Given the description of an element on the screen output the (x, y) to click on. 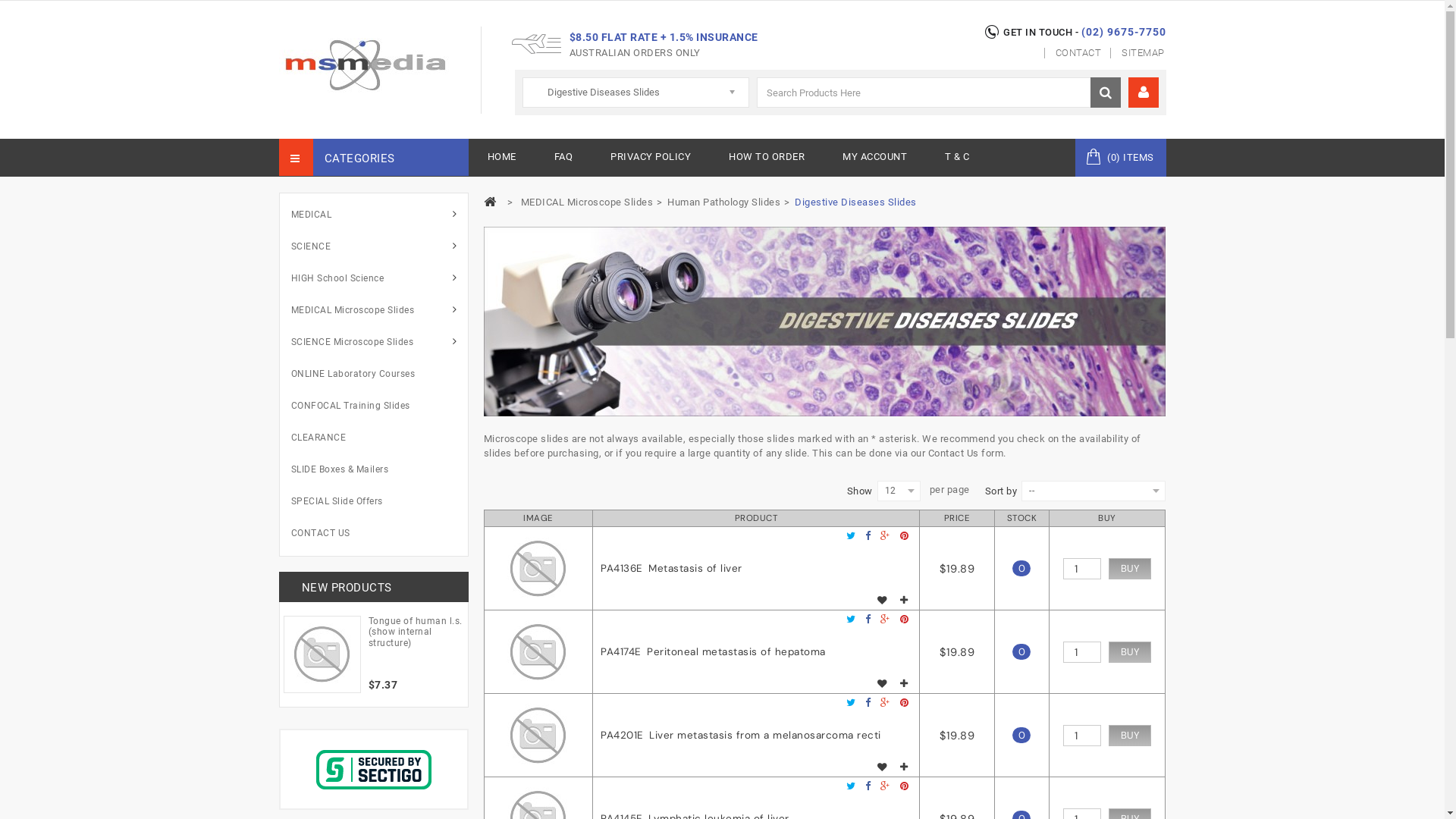
CONTACT Element type: text (1073, 52)
Share Element type: hover (867, 702)
Pinterest Element type: hover (904, 785)
HIGH School Science Element type: text (379, 277)
Share Element type: hover (867, 785)
T & C Element type: text (956, 157)
Tweet Element type: hover (850, 702)
FAQ Element type: text (563, 157)
BUY Element type: text (1129, 651)
Tweet Element type: hover (850, 785)
MEDICAL Microscope Slides Element type: text (586, 202)
Google+ Element type: hover (884, 702)
ONLINE Laboratory Courses Element type: text (379, 373)
Add to Wishlist Element type: hover (882, 766)
Peritoneal metastasis of hepatoma Element type: hover (538, 652)
Pinterest Element type: hover (904, 702)
SCIENCE Microscope Slides Element type: text (379, 341)
BUY Element type: text (1129, 568)
Pinterest Element type: hover (904, 535)
Human Pathology Slides Element type: text (723, 202)
Tongue of human l.s. (show internal structure) Element type: text (415, 629)
MY ACCOUNT Element type: text (874, 157)
Add to Compare Element type: hover (904, 599)
HOME Element type: text (501, 157)
Add to Wishlist Element type: hover (882, 683)
Google+ Element type: hover (884, 619)
CONTACT US Element type: text (379, 532)
CLEARANCE Element type: text (379, 437)
NEW PRODUCTS Element type: text (346, 587)
SPECIAL Slide Offers Element type: text (379, 500)
Add to Wishlist Element type: hover (882, 599)
Add to Compare Element type: hover (904, 766)
Pinterest Element type: hover (904, 619)
Google+ Element type: hover (884, 535)
(0) ITEMS Element type: text (1120, 157)
Return to Home Element type: hover (490, 201)
Google+ Element type: hover (884, 785)
SLIDE Boxes & Mailers Element type: text (379, 469)
SCIENCE Element type: text (379, 246)
Share Element type: hover (867, 535)
Add to Compare Element type: hover (904, 683)
CONFOCAL Training Slides Element type: text (379, 405)
Share Element type: hover (867, 619)
Medical and Science Media Element type: hover (364, 64)
MEDICAL Microscope Slides Element type: text (379, 309)
SITEMAP Element type: text (1138, 52)
HOW TO ORDER Element type: text (766, 157)
Tweet Element type: hover (850, 535)
Liver metastasis from a melanosarcoma recti Element type: hover (538, 735)
Tweet Element type: hover (850, 619)
MEDICAL Element type: text (379, 214)
PRIVACY POLICY Element type: text (650, 157)
Metastasis of liver Element type: hover (538, 568)
BUY Element type: text (1129, 735)
